Given the description of an element on the screen output the (x, y) to click on. 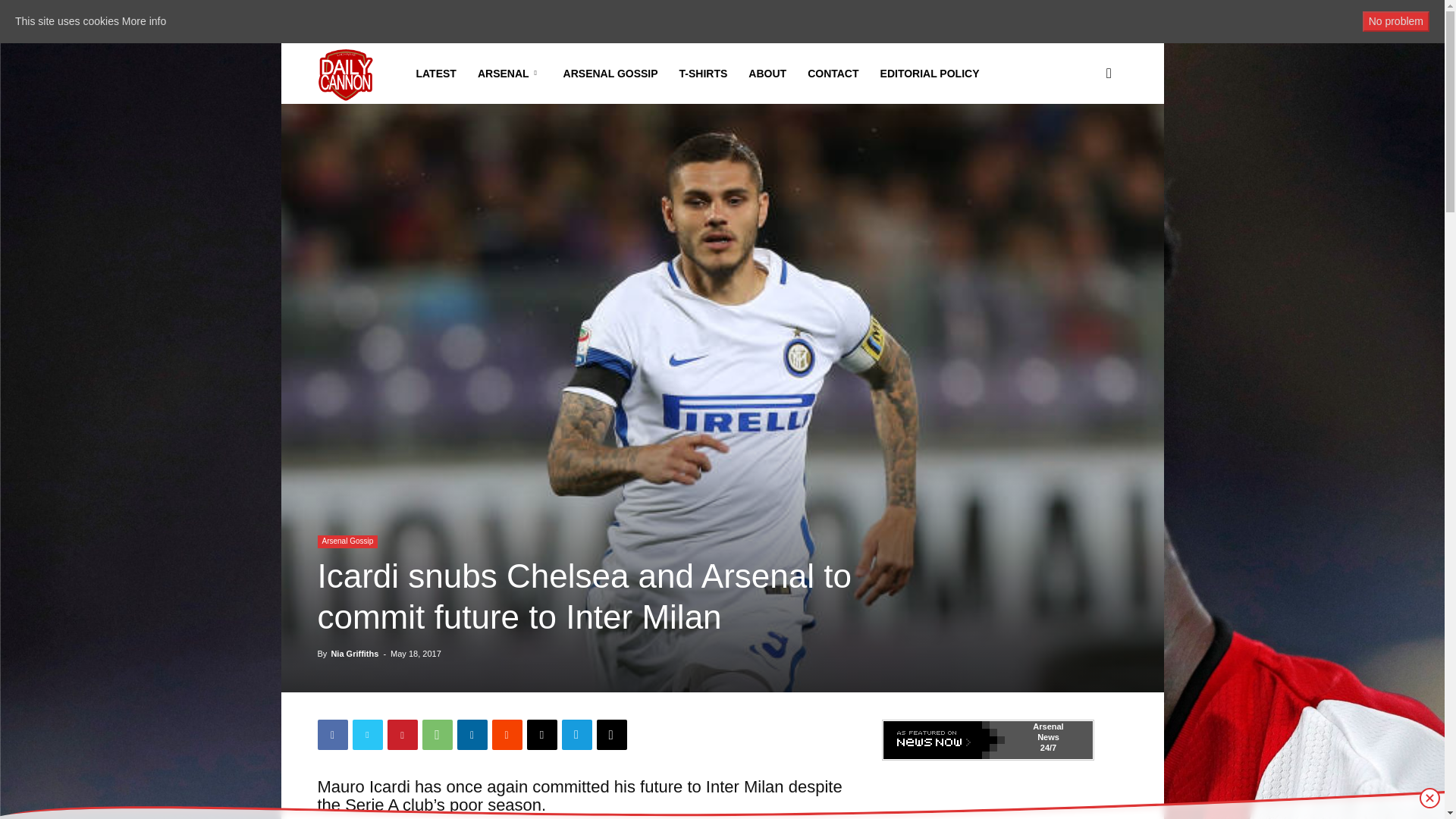
Telegram (575, 734)
WhatsApp (436, 734)
Facebook (332, 734)
Twitter (366, 734)
Copy URL (610, 734)
Email (540, 734)
ReddIt (506, 734)
Search (1085, 146)
Linkedin (471, 734)
Pinterest (401, 734)
